Given the description of an element on the screen output the (x, y) to click on. 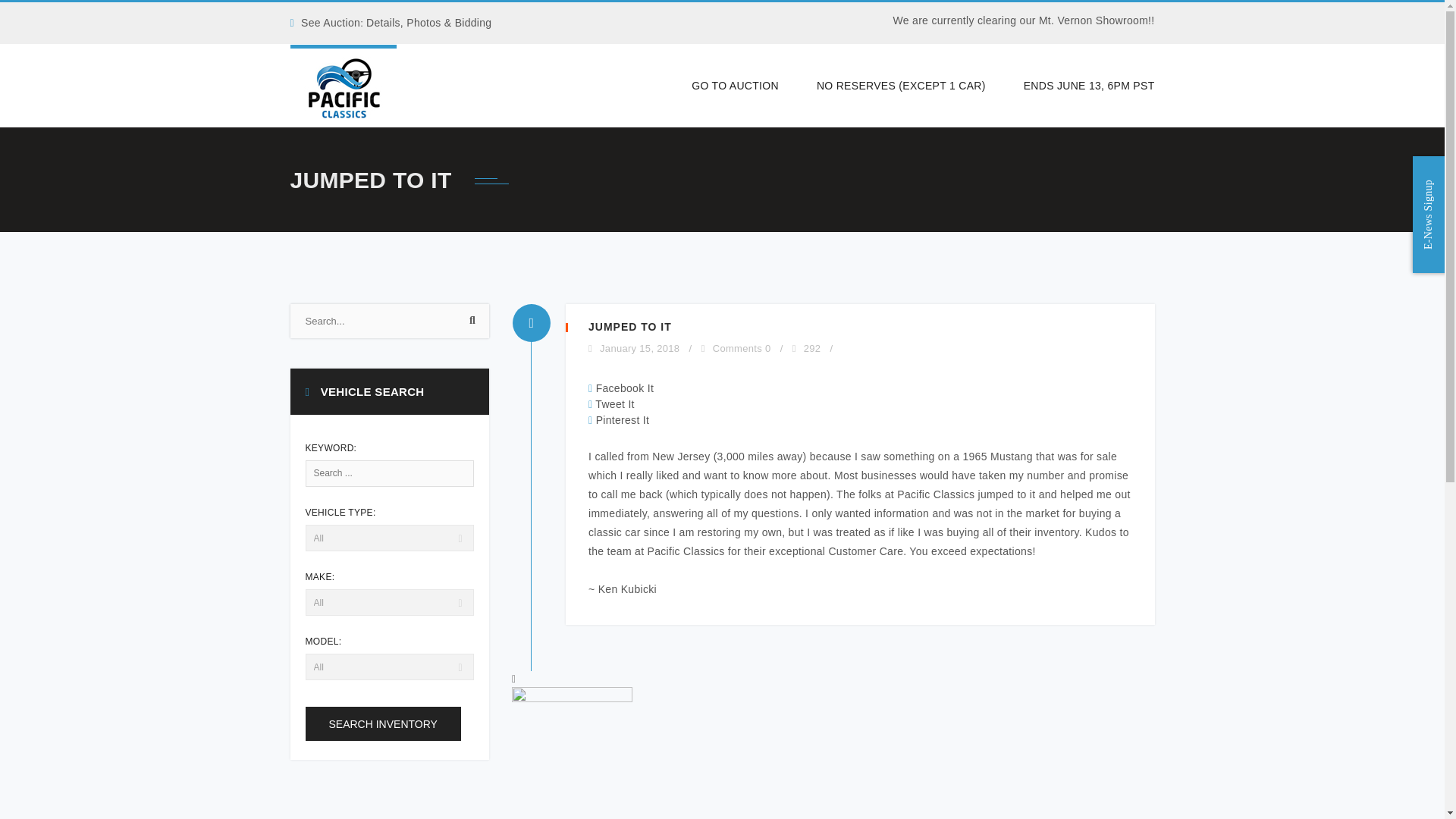
ENDS JUNE 13, 6PM PST (1079, 85)
Pacific Classics (342, 85)
SEARCH INVENTORY (382, 723)
Search (470, 322)
Search (470, 322)
GO TO AUCTION (734, 85)
JUMPED TO IT (629, 326)
Search (470, 322)
